Given the description of an element on the screen output the (x, y) to click on. 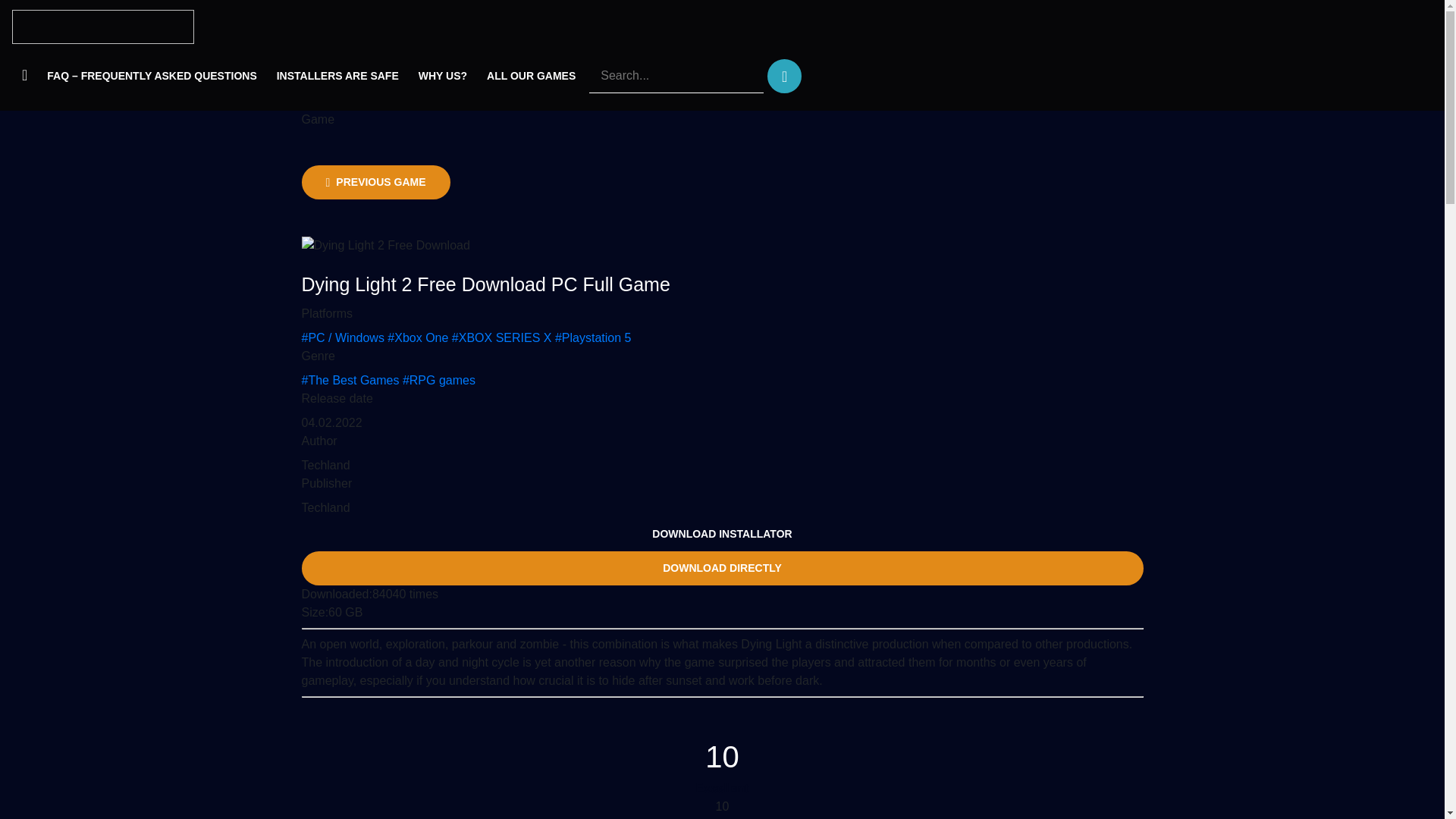
WHY US? (442, 76)
INSTALLERS ARE SAFE (337, 76)
DOWNLOAD INSTALLATOR (721, 533)
DOWNLOAD DIRECTLY (721, 568)
PREVIOUS GAME (375, 182)
ALL OUR GAMES (530, 76)
